Given the description of an element on the screen output the (x, y) to click on. 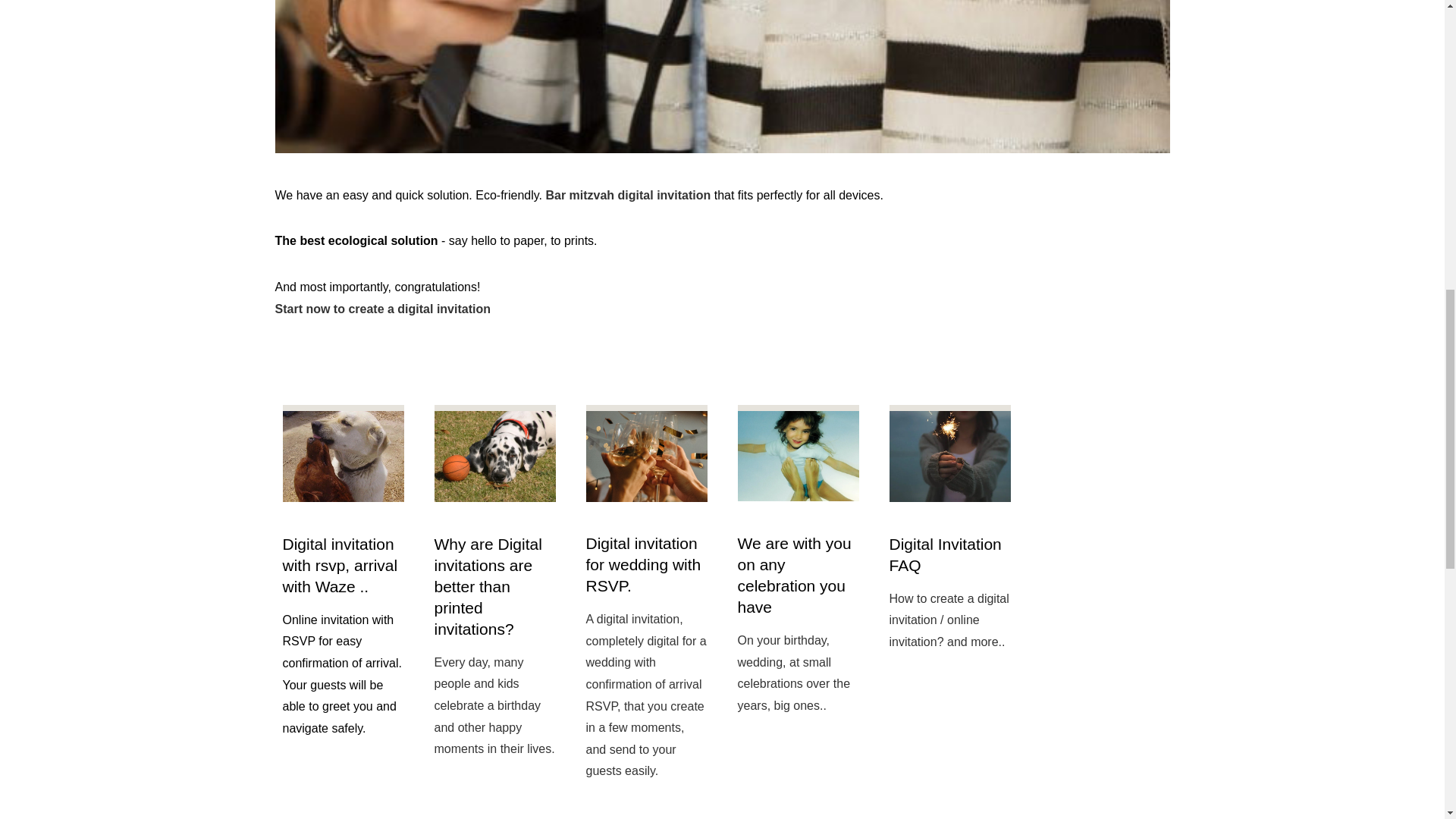
Bar mitzvah digital invitation (627, 195)
create bar mitzvah digital invitation (627, 195)
Start now to create a digital invitation (382, 308)
create bar mitzvah digital invitation (382, 308)
